Given the description of an element on the screen output the (x, y) to click on. 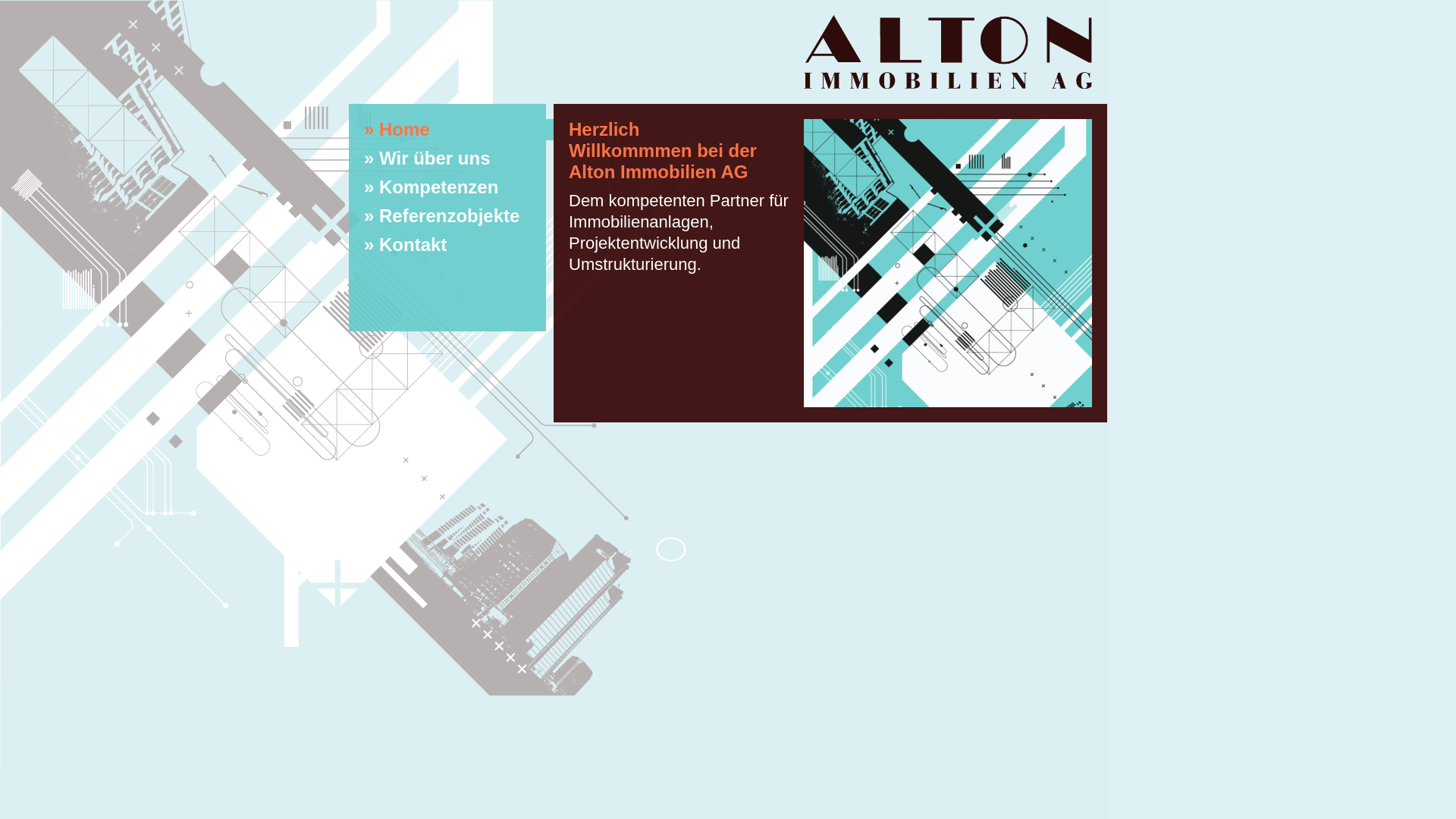
Alton Immobilien AG Element type: hover (947, 82)
